Given the description of an element on the screen output the (x, y) to click on. 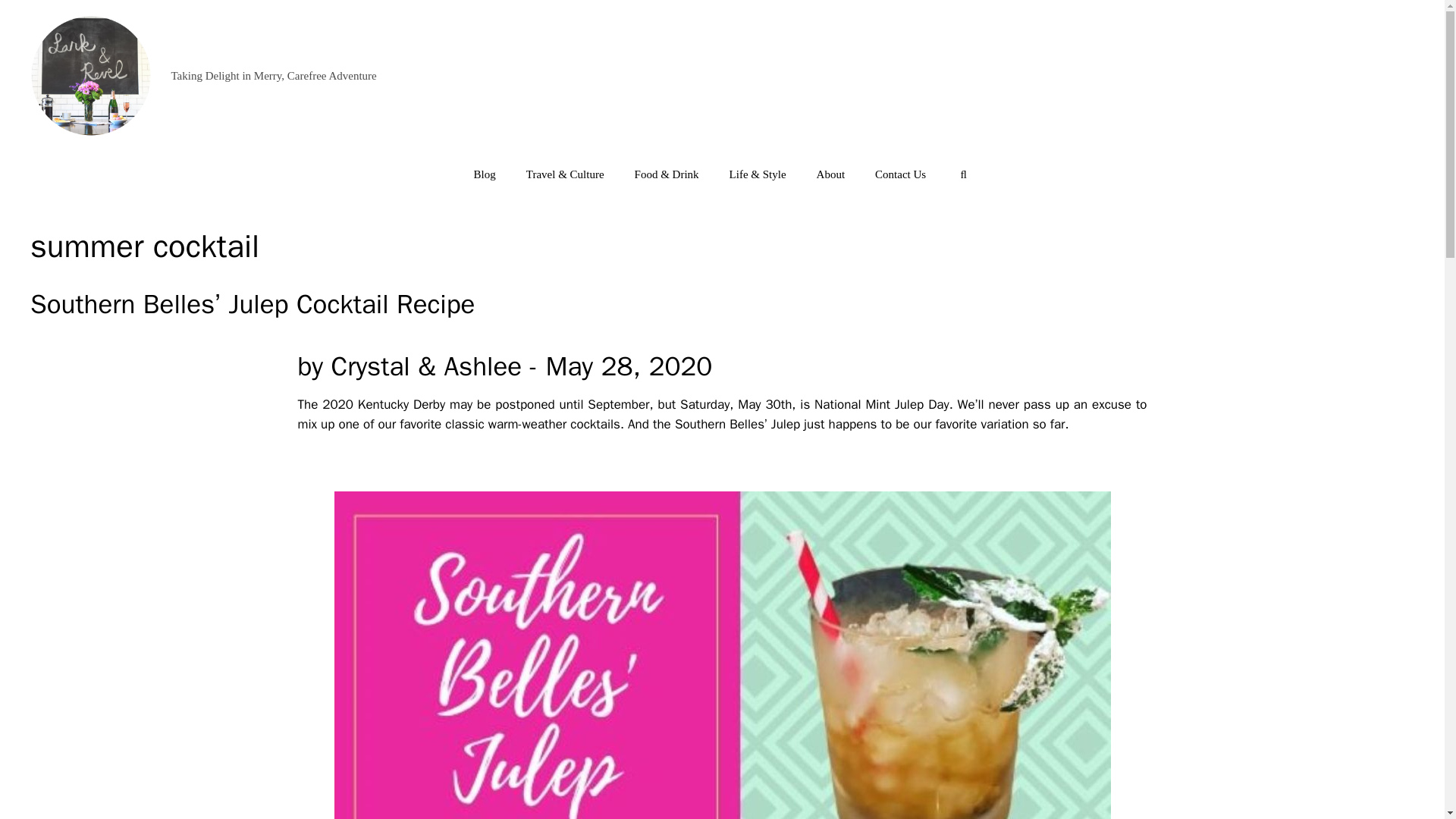
Contact Us (900, 174)
About (831, 174)
Blog (484, 174)
